Given the description of an element on the screen output the (x, y) to click on. 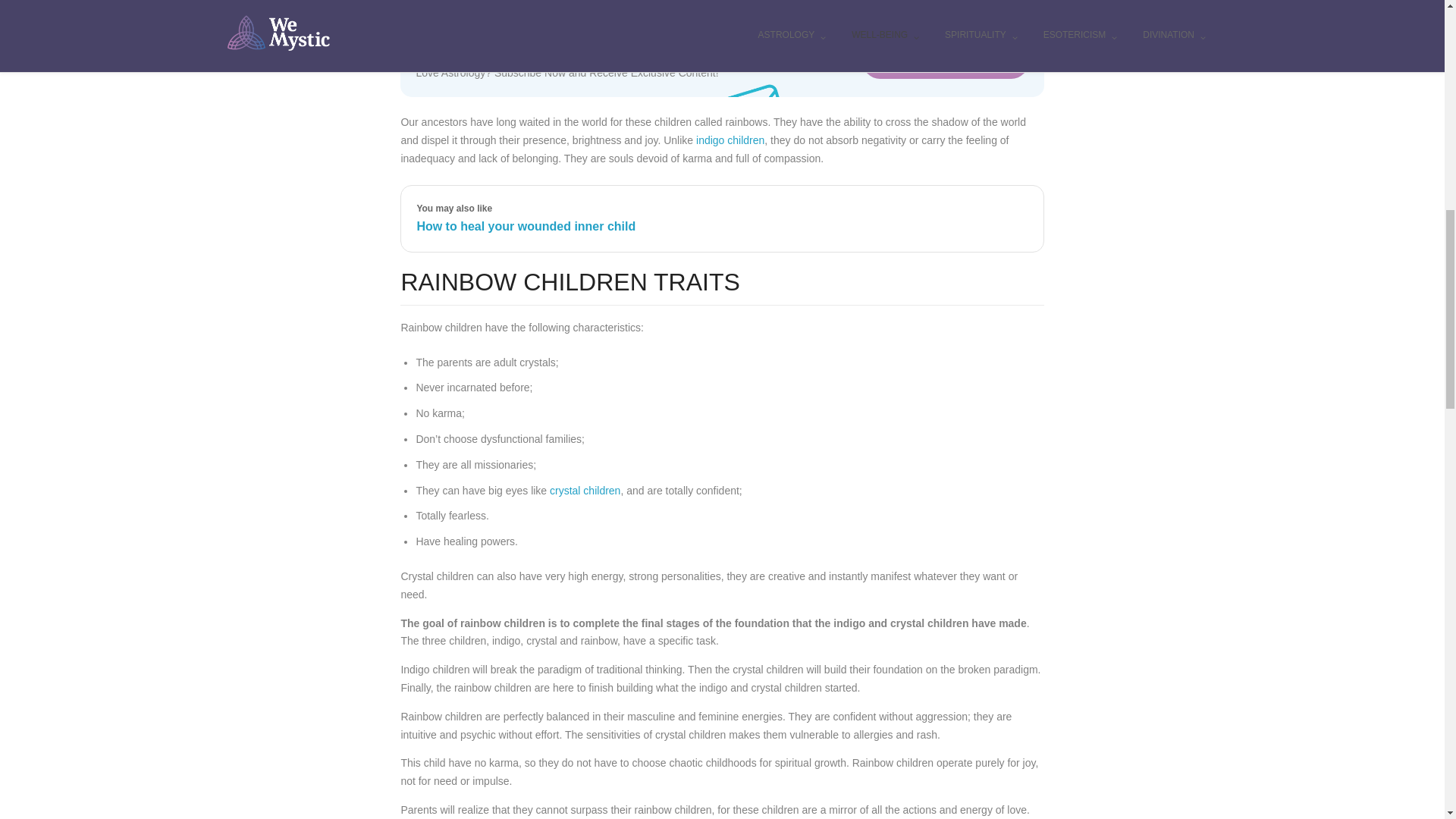
SUBSCRIBE FOR FREE (945, 60)
indigo children (729, 140)
How to heal your wounded inner child (525, 226)
crystal children (585, 490)
